Given the description of an element on the screen output the (x, y) to click on. 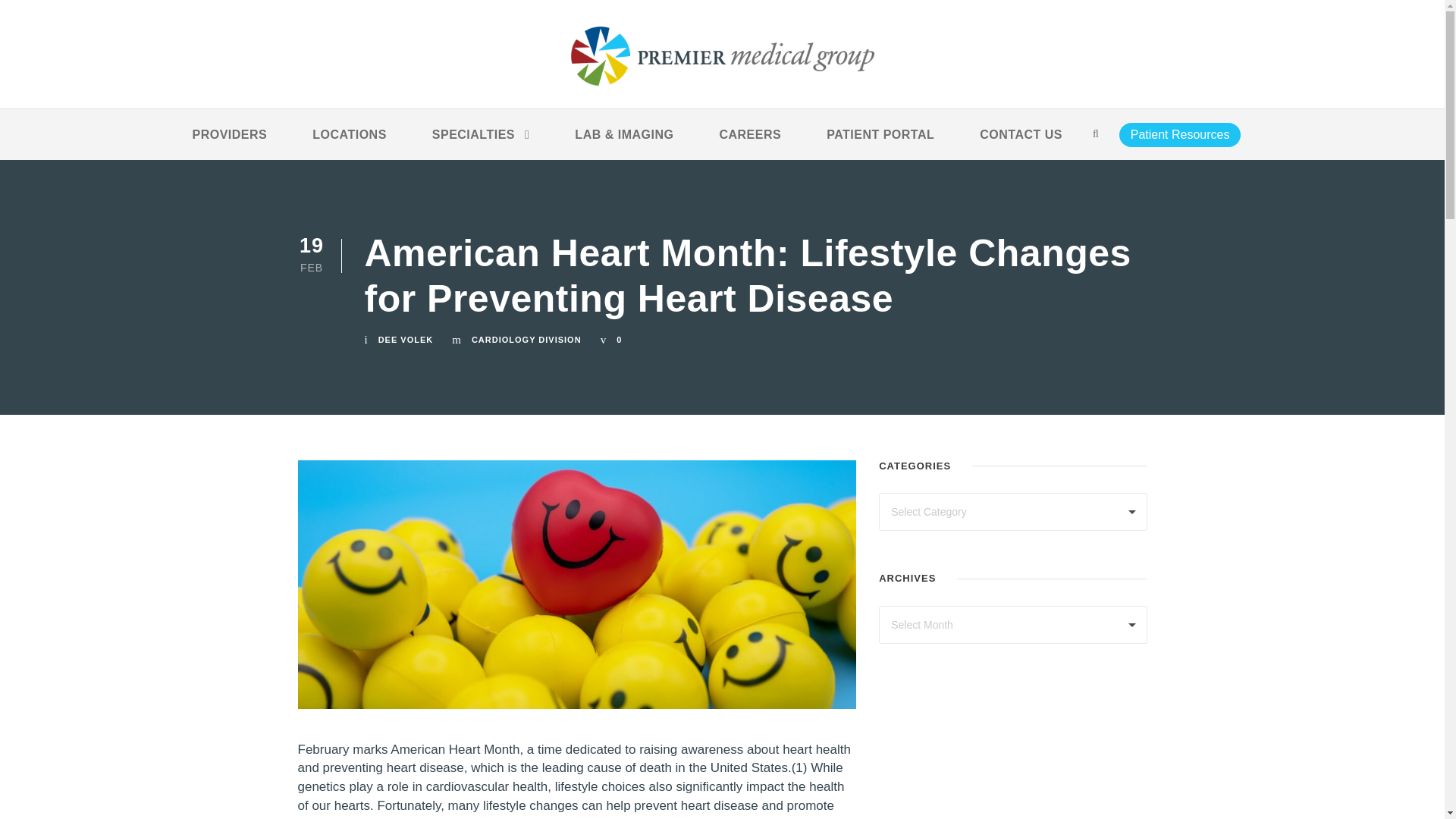
PROVIDERS (229, 141)
CONTACT US (1020, 141)
DEE VOLEK (405, 338)
CARDIOLOGY DIVISION (525, 338)
Posts by Dee Volek (405, 338)
CAREERS (749, 141)
SPECIALTIES (480, 141)
LOCATIONS (350, 141)
PATIENT PORTAL (880, 141)
